Given the description of an element on the screen output the (x, y) to click on. 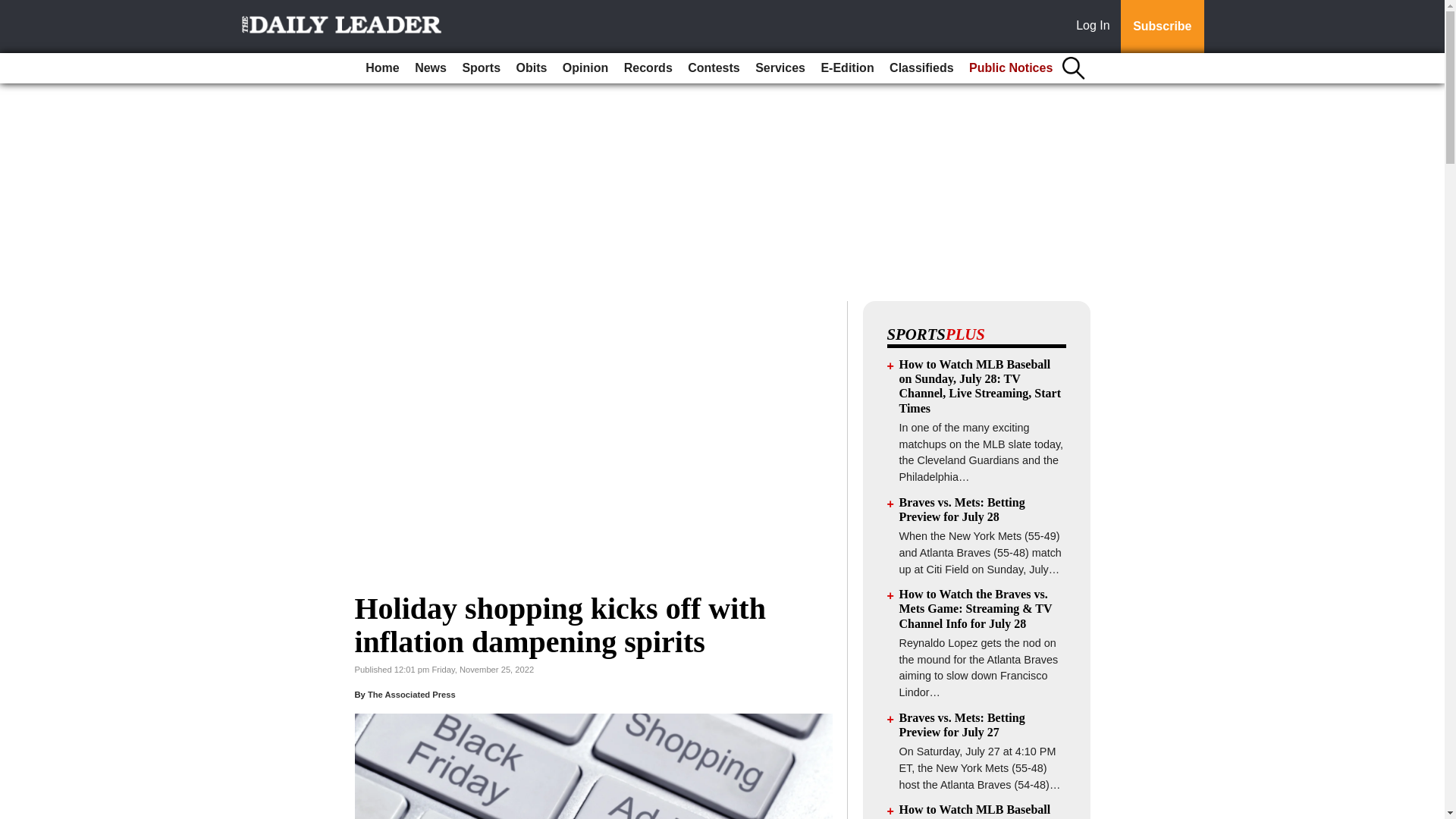
Classifieds (921, 68)
Records (647, 68)
Home (381, 68)
The Associated Press (411, 694)
Log In (1095, 26)
Public Notices (1010, 68)
Obits (532, 68)
Services (779, 68)
Contests (713, 68)
Subscribe (1162, 26)
Braves vs. Mets: Betting Preview for July 28 (962, 509)
Braves vs. Mets: Betting Preview for July 27 (962, 724)
News (430, 68)
